Given the description of an element on the screen output the (x, y) to click on. 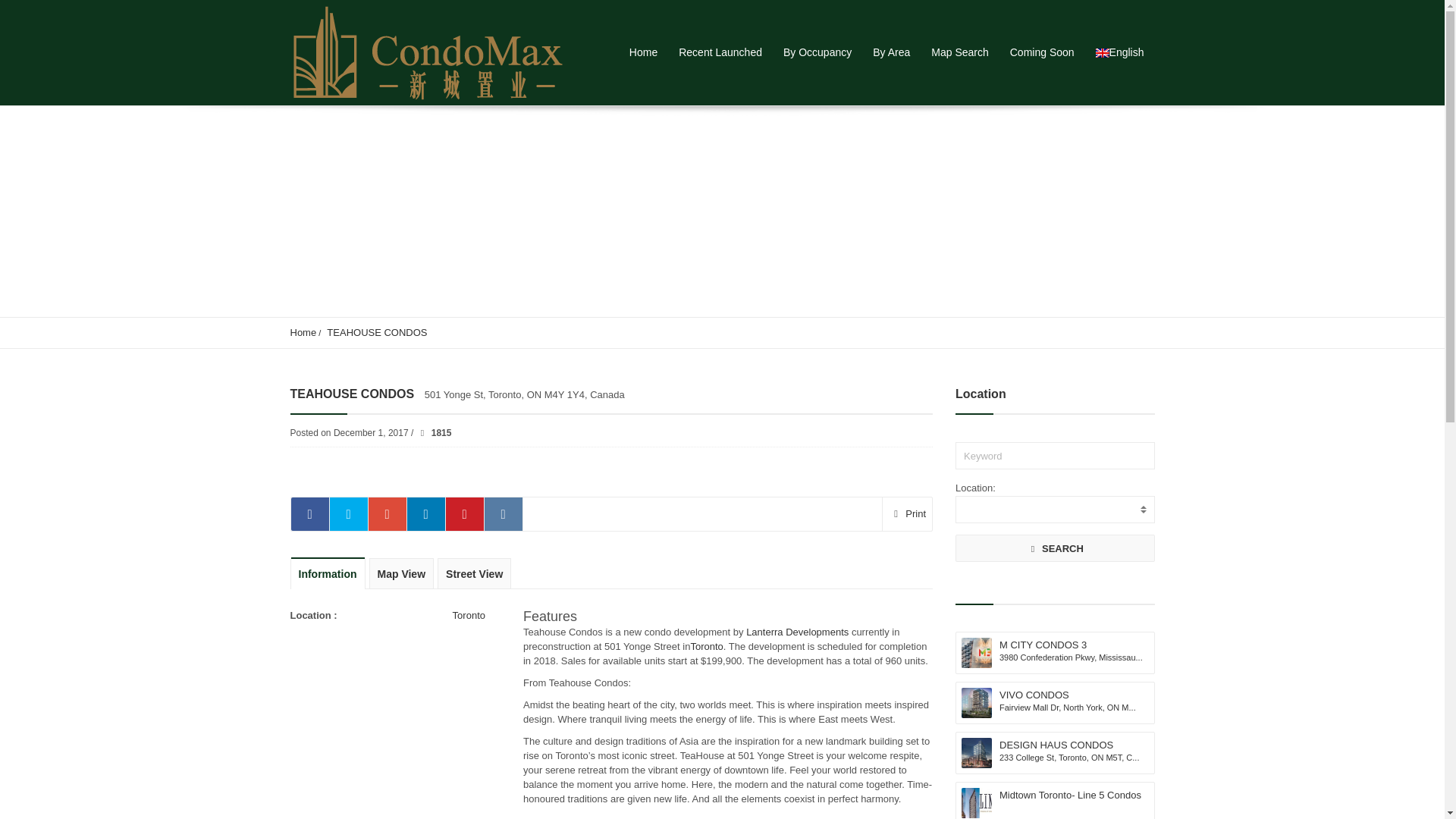
Home (302, 332)
TEAHOUSE CONDOS (376, 332)
TEAHOUSE CONDOS (376, 332)
